Given the description of an element on the screen output the (x, y) to click on. 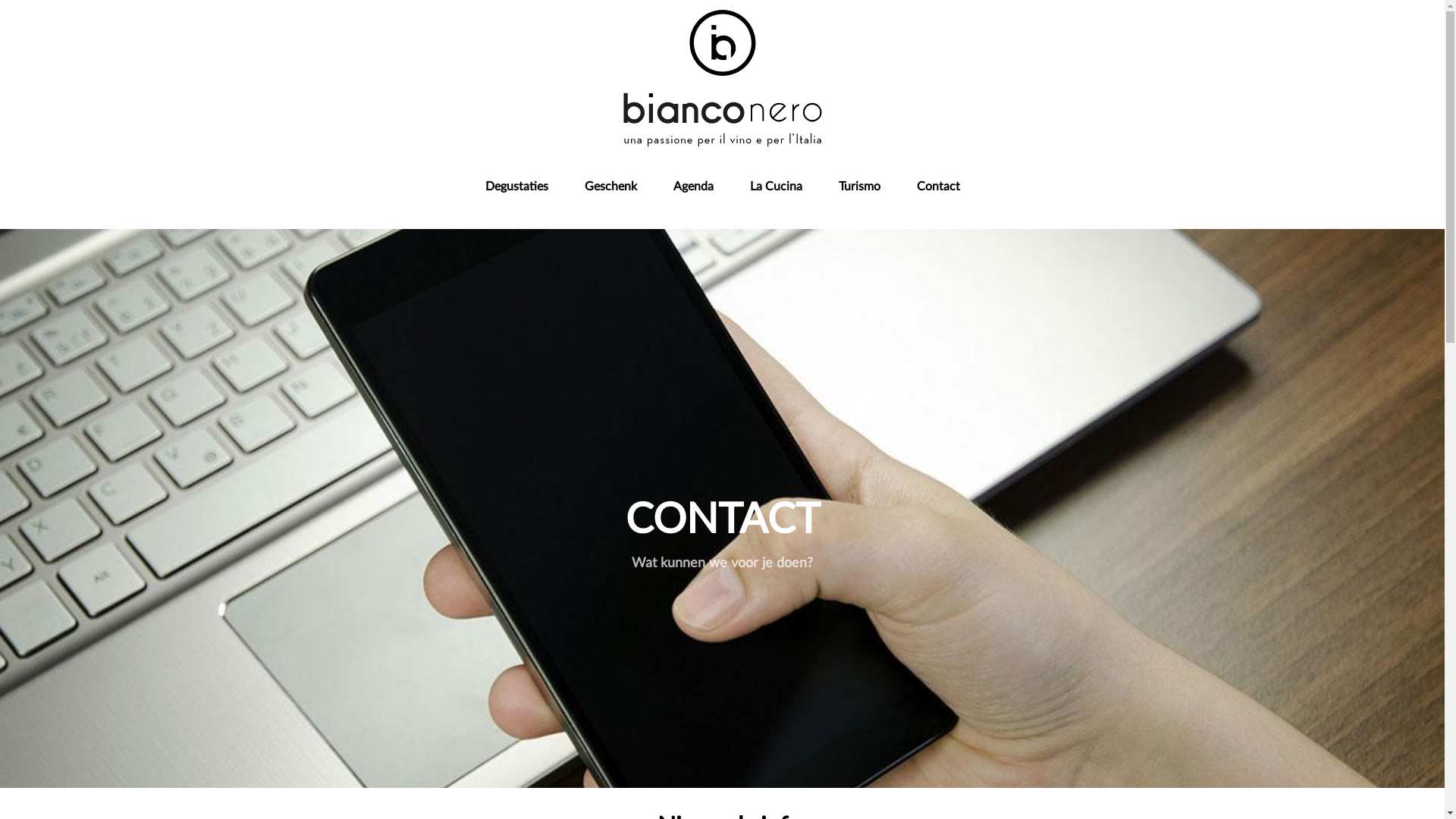
Overslaan en naar de inhoud gaan Element type: text (721, 1)
Home Element type: hover (721, 77)
La Cucina Element type: text (775, 186)
Degustaties Element type: text (516, 186)
Agenda Element type: text (693, 186)
Turismo Element type: text (859, 186)
Contact Element type: text (937, 186)
Geschenk Element type: text (609, 186)
